Given the description of an element on the screen output the (x, y) to click on. 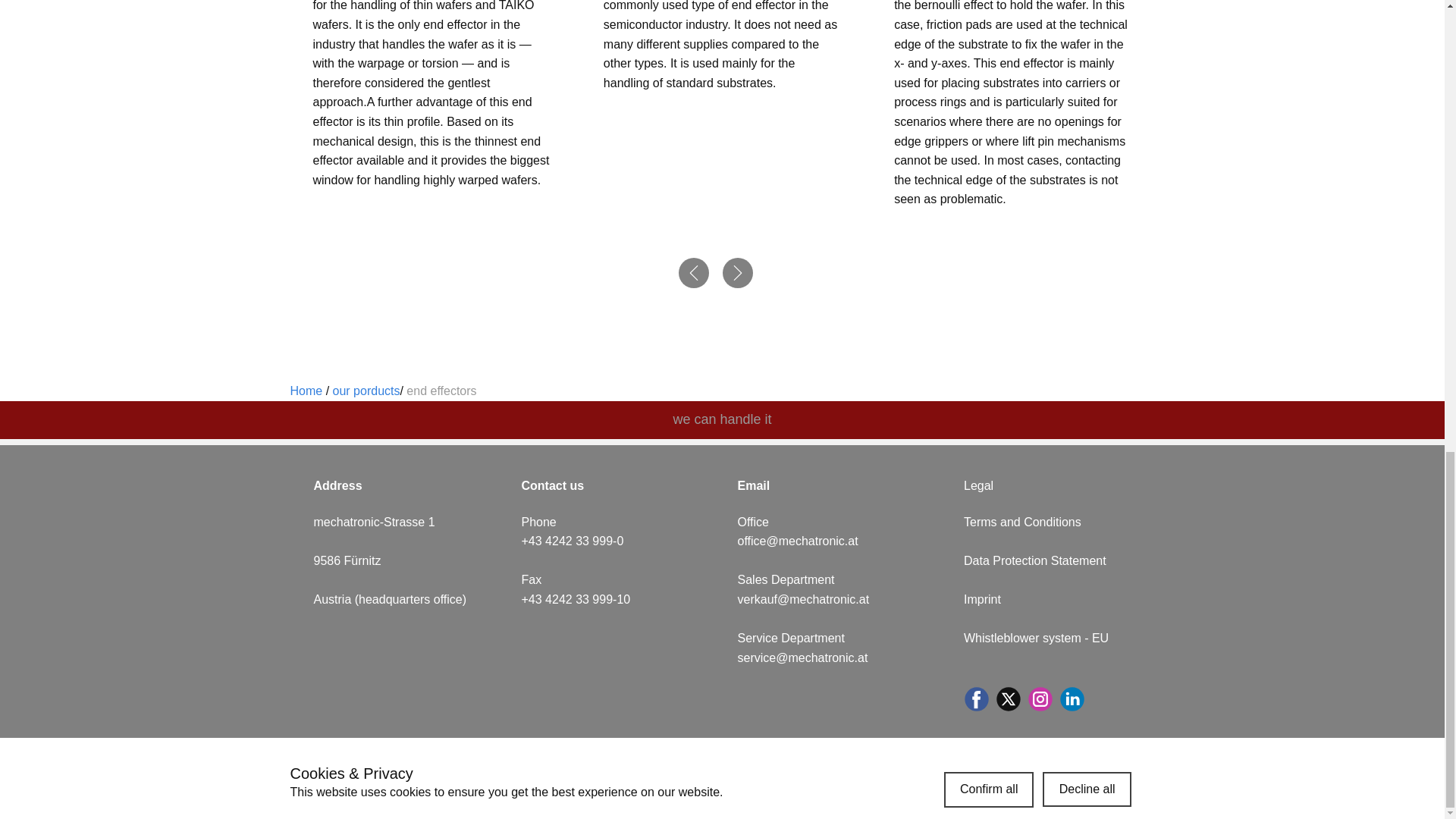
Home (305, 390)
Whistleblower system - EU (1035, 637)
our porducts (366, 390)
Terms and Conditions (1022, 521)
instagram (1039, 699)
Imprint  (983, 599)
LinkedIn (1071, 699)
facebook (975, 699)
twitter (1007, 699)
Data Protection Statement (1034, 560)
